Given the description of an element on the screen output the (x, y) to click on. 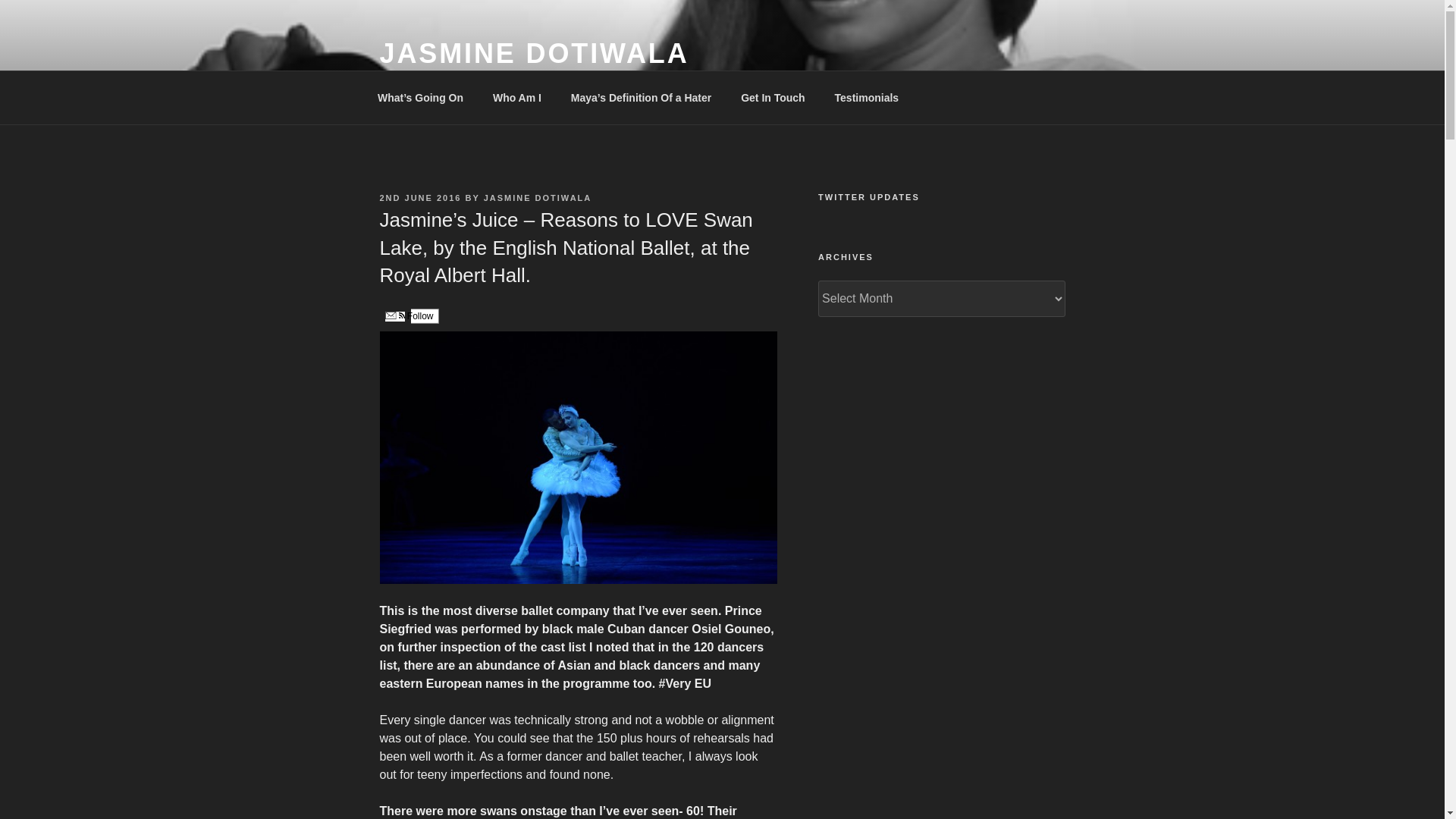
Follow (408, 315)
Testimonials (866, 97)
JASMINE DOTIWALA (537, 197)
2ND JUNE 2016 (419, 197)
Email, RSS (394, 316)
Get In Touch (773, 97)
TWITTER UPDATES (941, 197)
JASMINE DOTIWALA (533, 52)
Who Am I (516, 97)
